Given the description of an element on the screen output the (x, y) to click on. 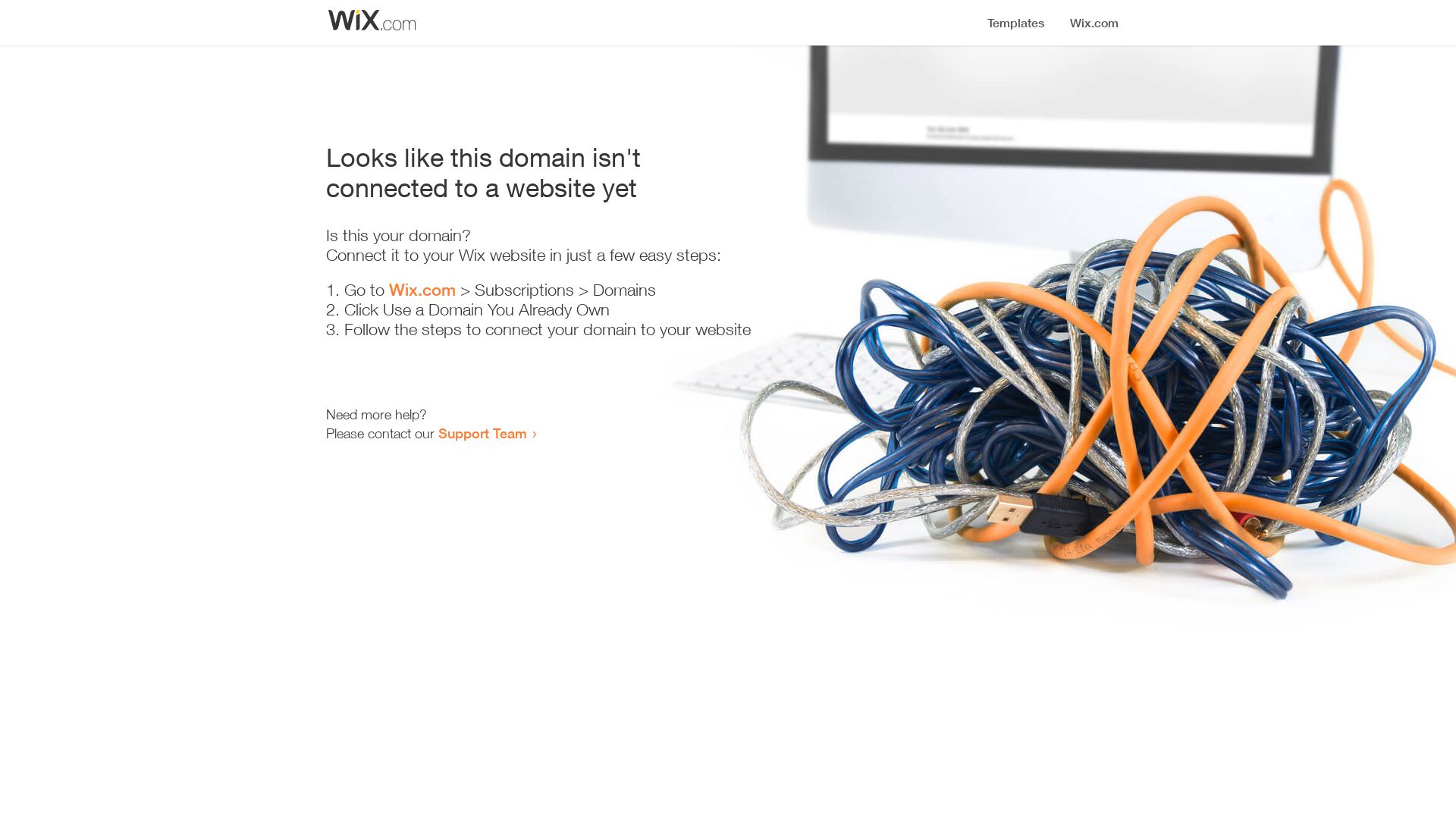
Support Team Element type: text (482, 432)
Wix.com Element type: text (422, 289)
